Given the description of an element on the screen output the (x, y) to click on. 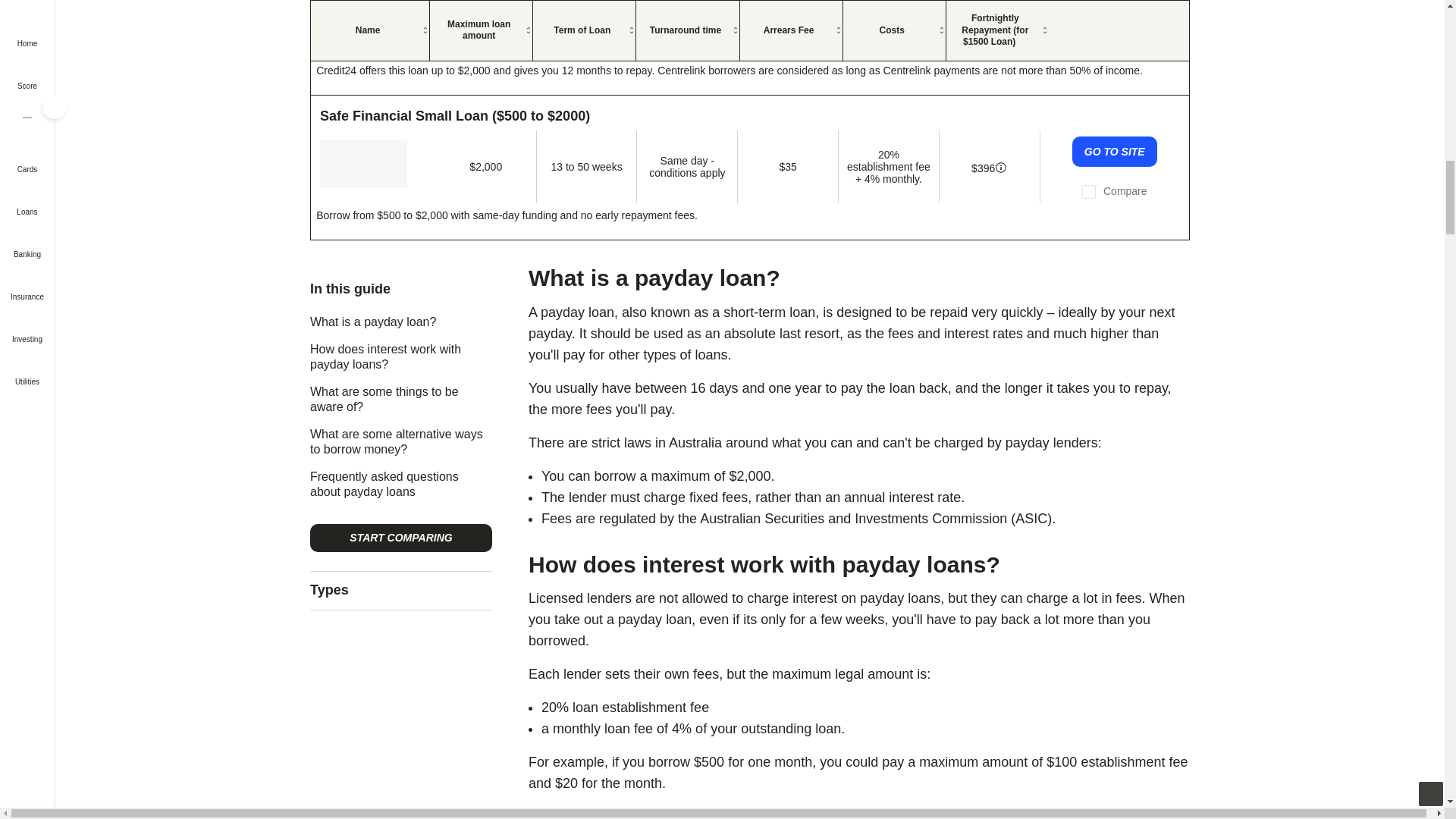
Apply Now For The Credit24 Short Term Loan (1114, 11)
